Given the description of an element on the screen output the (x, y) to click on. 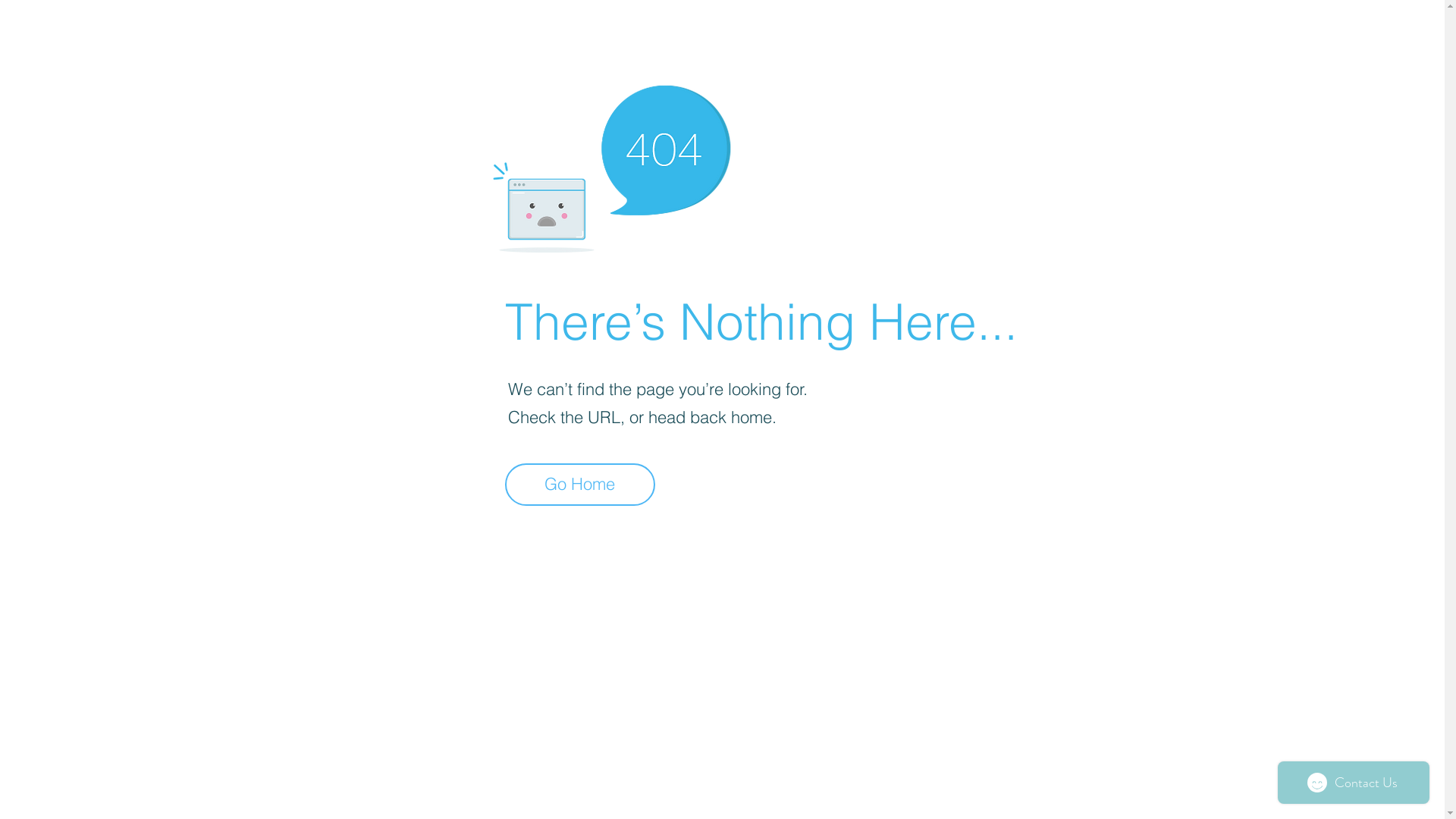
Go Home Element type: text (580, 484)
404-icon_2.png Element type: hover (610, 164)
